Given the description of an element on the screen output the (x, y) to click on. 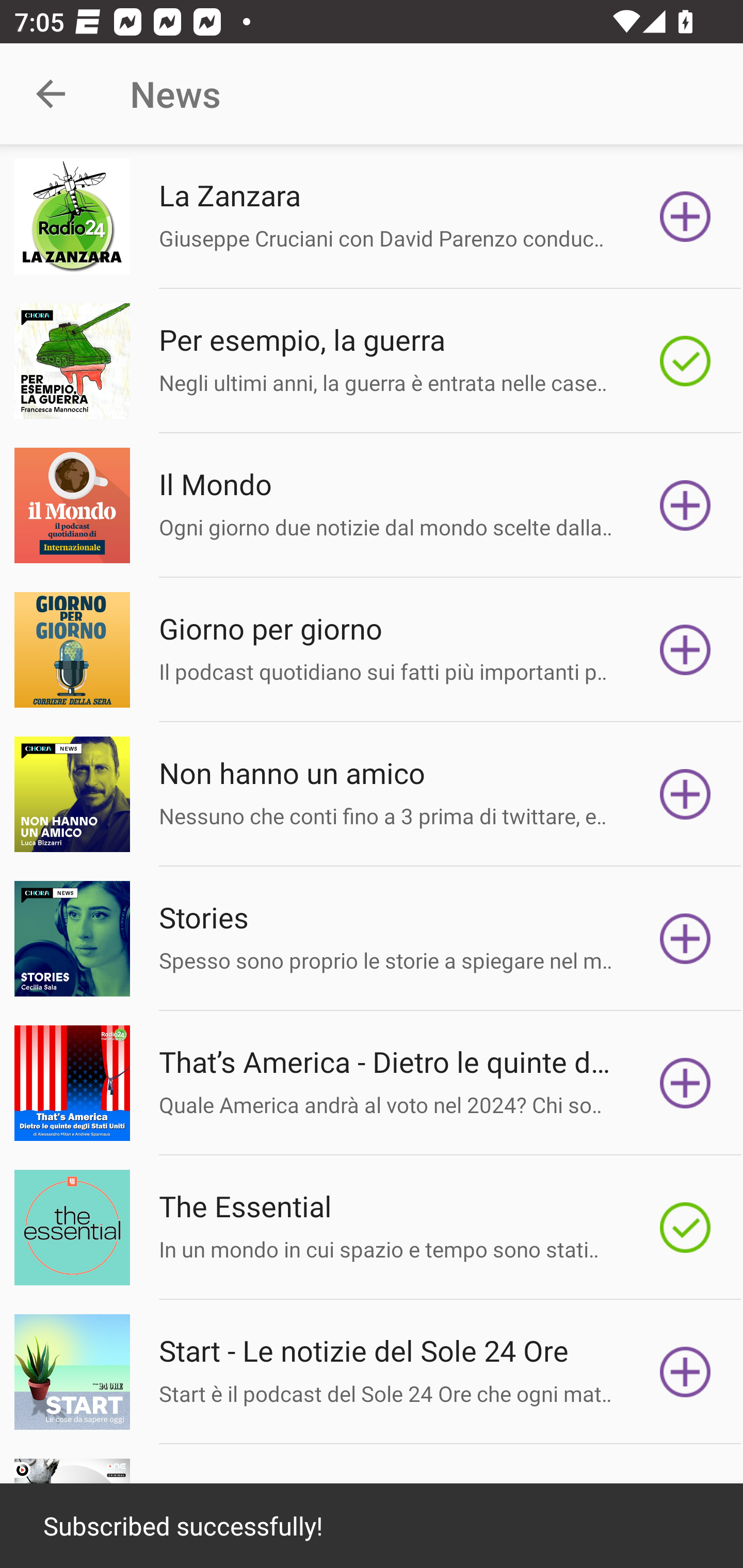
Navigate up (50, 93)
Subscribe (685, 216)
Subscribed (685, 360)
Subscribe (685, 505)
Subscribe (685, 649)
Subscribe (685, 793)
Subscribe (685, 939)
Subscribe (685, 1083)
Subscribed (685, 1227)
Subscribe (685, 1371)
Subscribed successfully! (371, 1525)
